Given the description of an element on the screen output the (x, y) to click on. 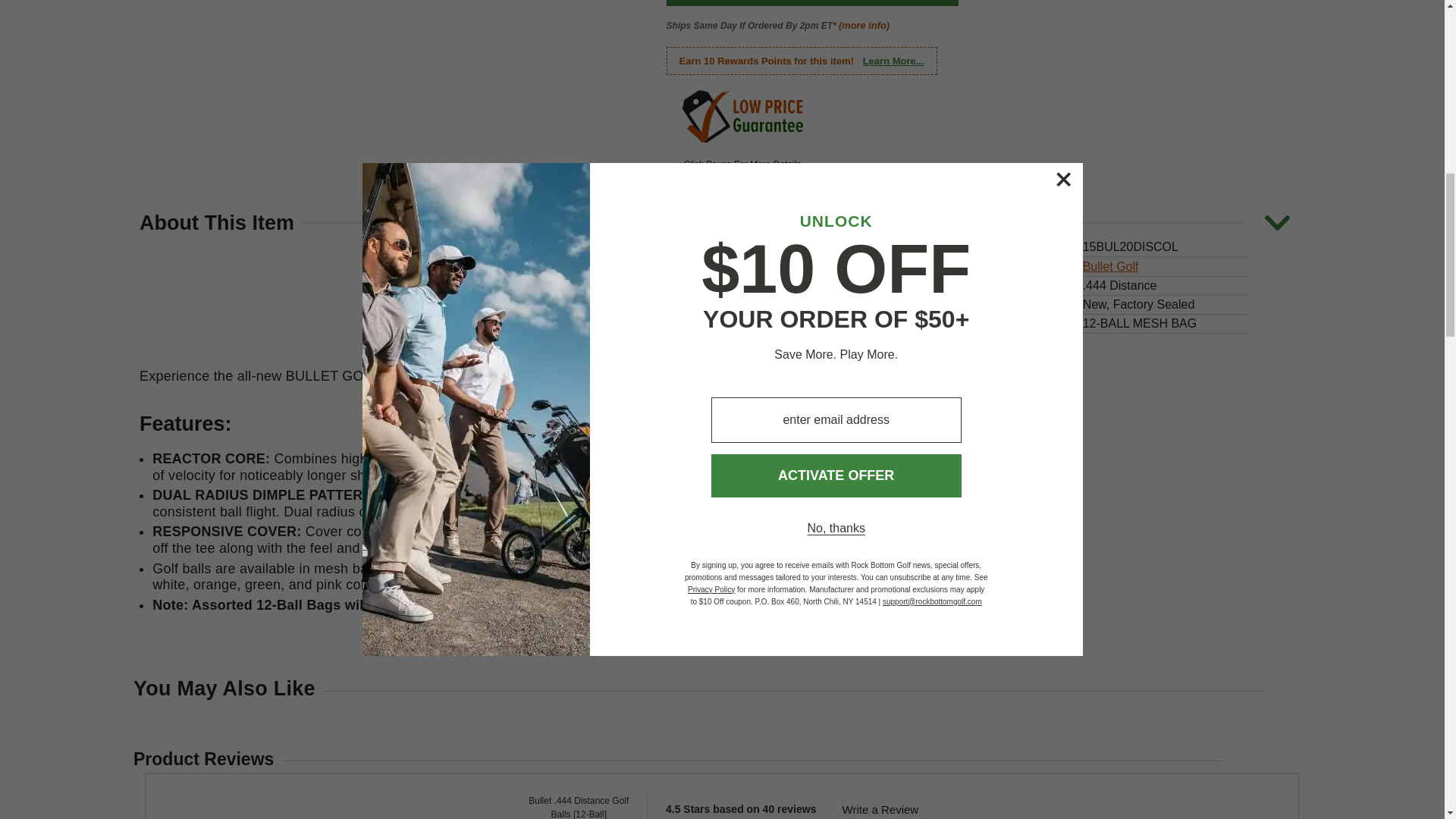
Add to Cart (812, 2)
